Given the description of an element on the screen output the (x, y) to click on. 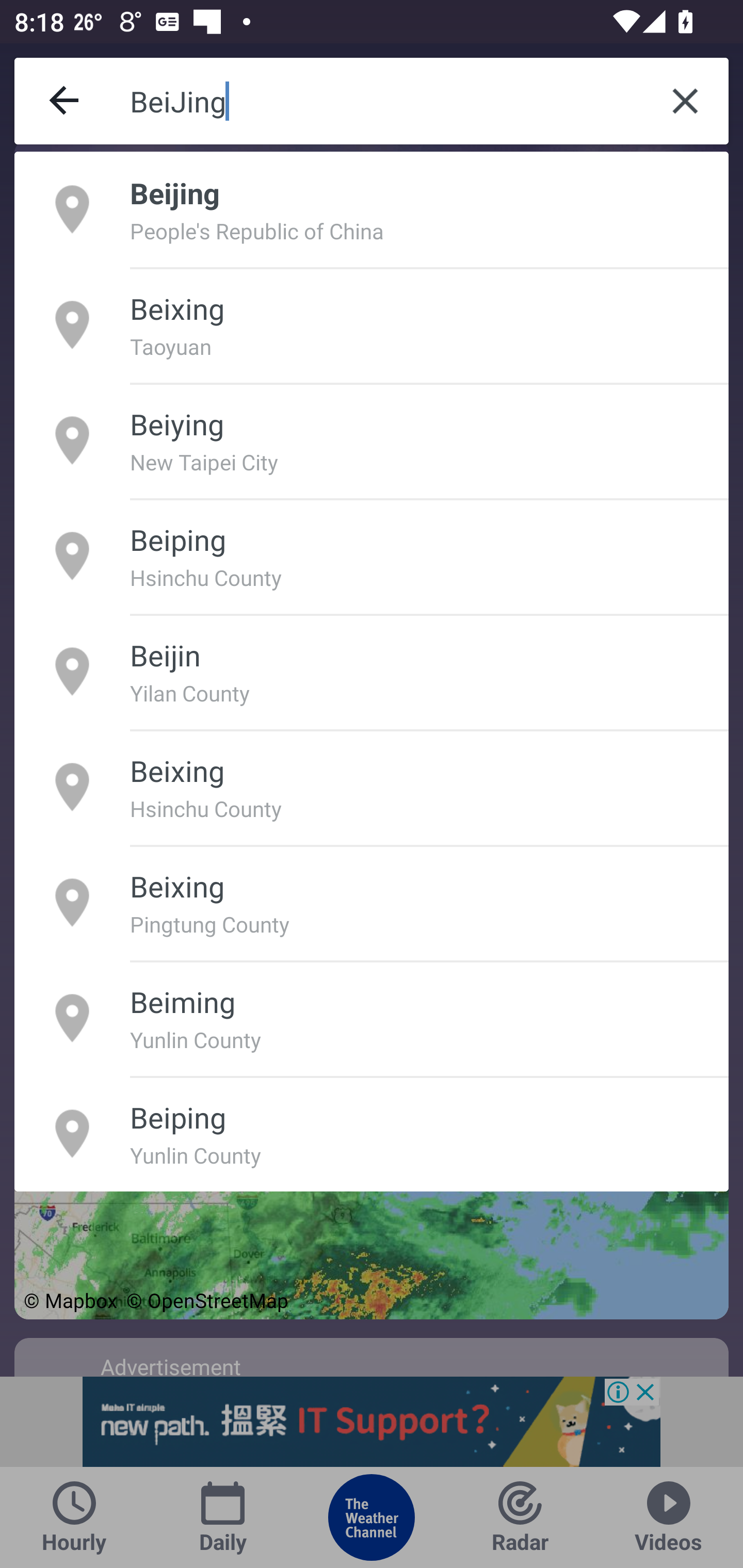
Back (64, 101)
Clear (684, 101)
BeiJing (385, 100)
Beijing People's Republic of China (371, 209)
Beixing Taoyuan (371, 324)
Beiying New Taipei City (371, 440)
Beiping Hsinchu County (371, 555)
Beijin Yilan County (371, 671)
Beixing Hsinchu County (371, 787)
Beixing Pingtung County (371, 902)
Beiming Yunlin County (371, 1017)
Beiping Yunlin County (371, 1133)
